Given the description of an element on the screen output the (x, y) to click on. 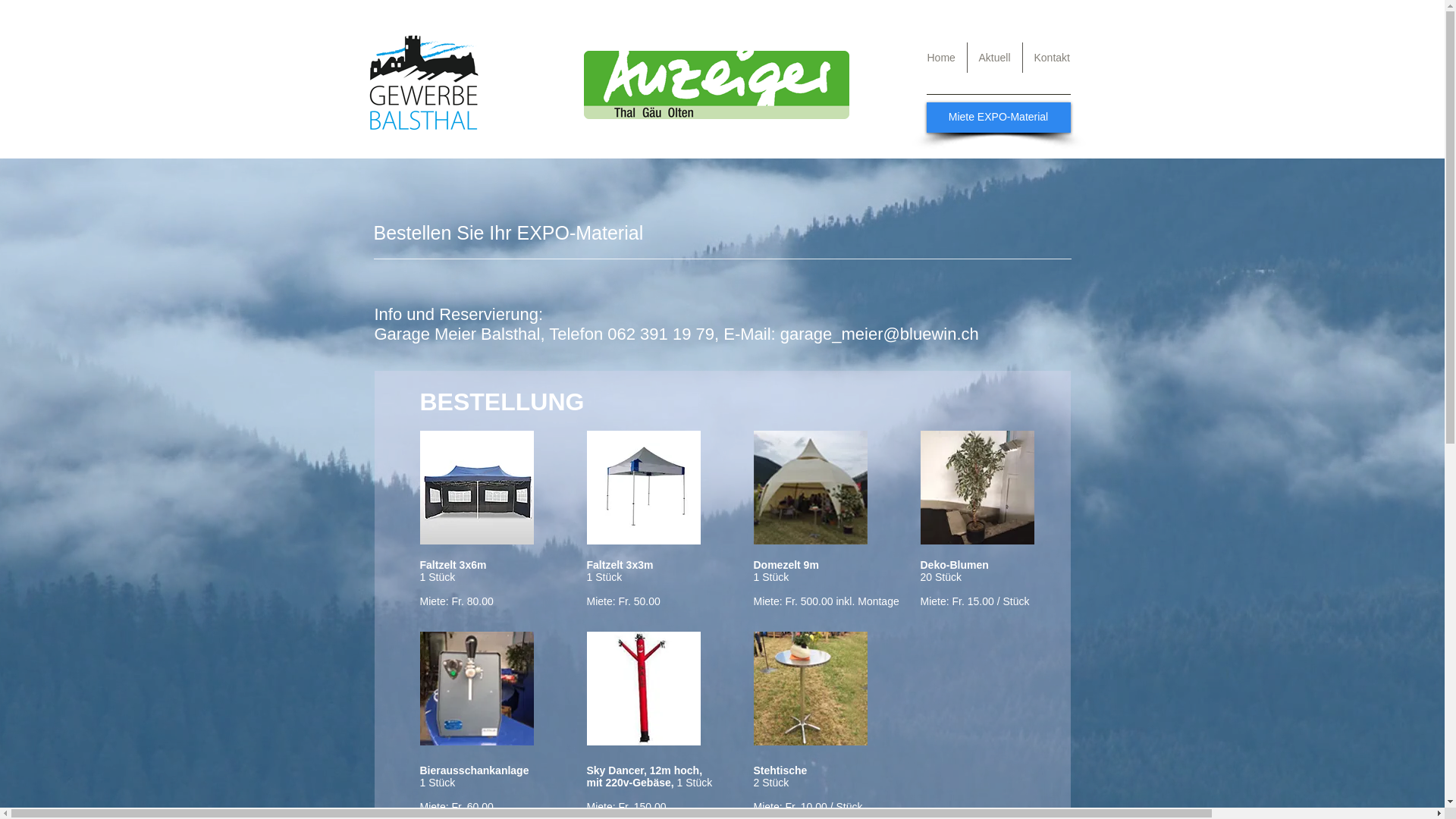
E-Mail: Element type: text (751, 333)
Aktuell Element type: text (994, 57)
Miete EXPO-Material Element type: text (998, 117)
garage_meier@bluewin.ch Element type: text (879, 333)
Kontakt Element type: text (1051, 57)
062 391 19 79 Element type: text (660, 333)
Home Element type: text (941, 57)
